Given the description of an element on the screen output the (x, y) to click on. 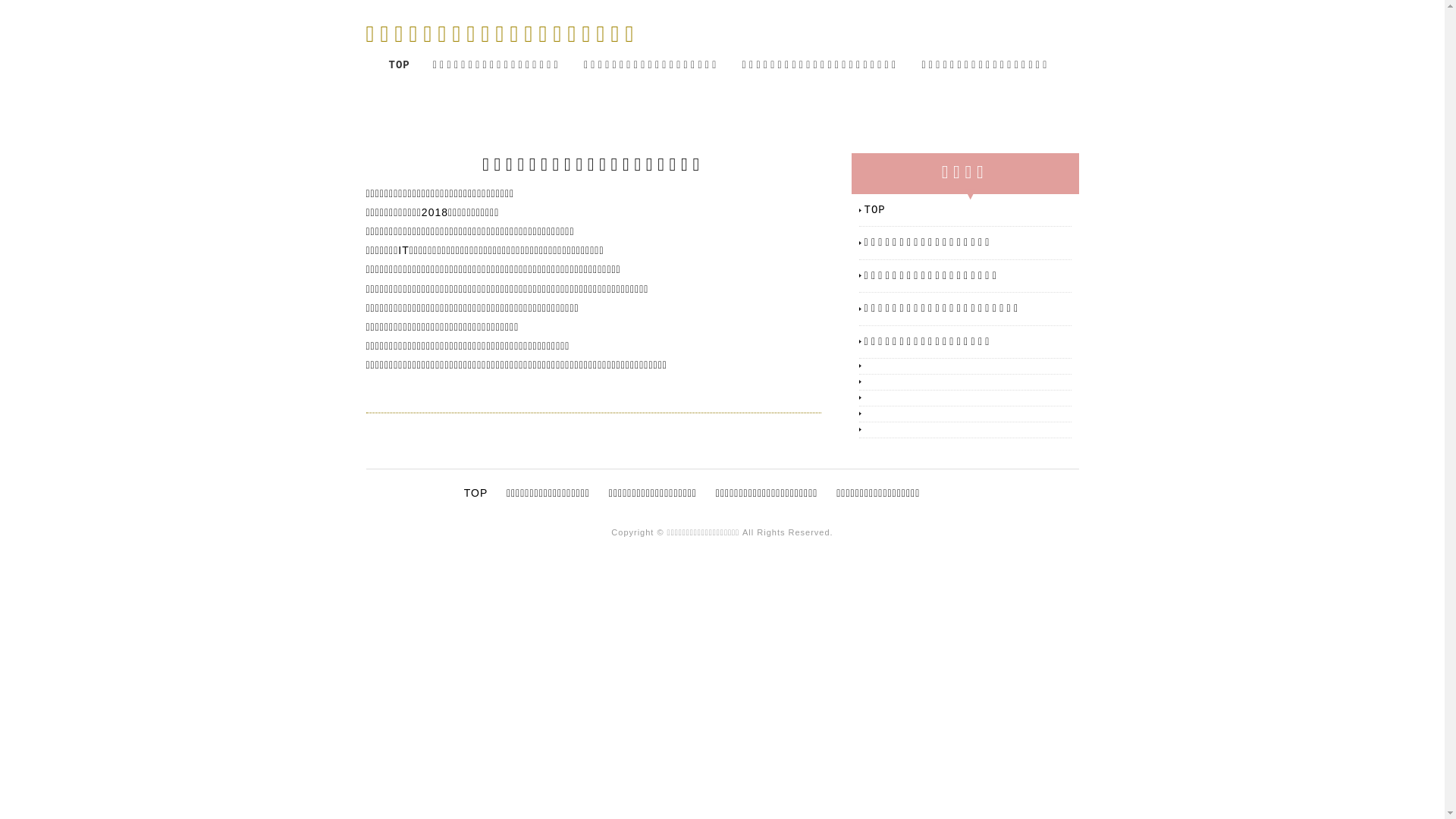
TOP Element type: text (967, 209)
TOP Element type: text (475, 492)
TOP Element type: text (398, 64)
